Given the description of an element on the screen output the (x, y) to click on. 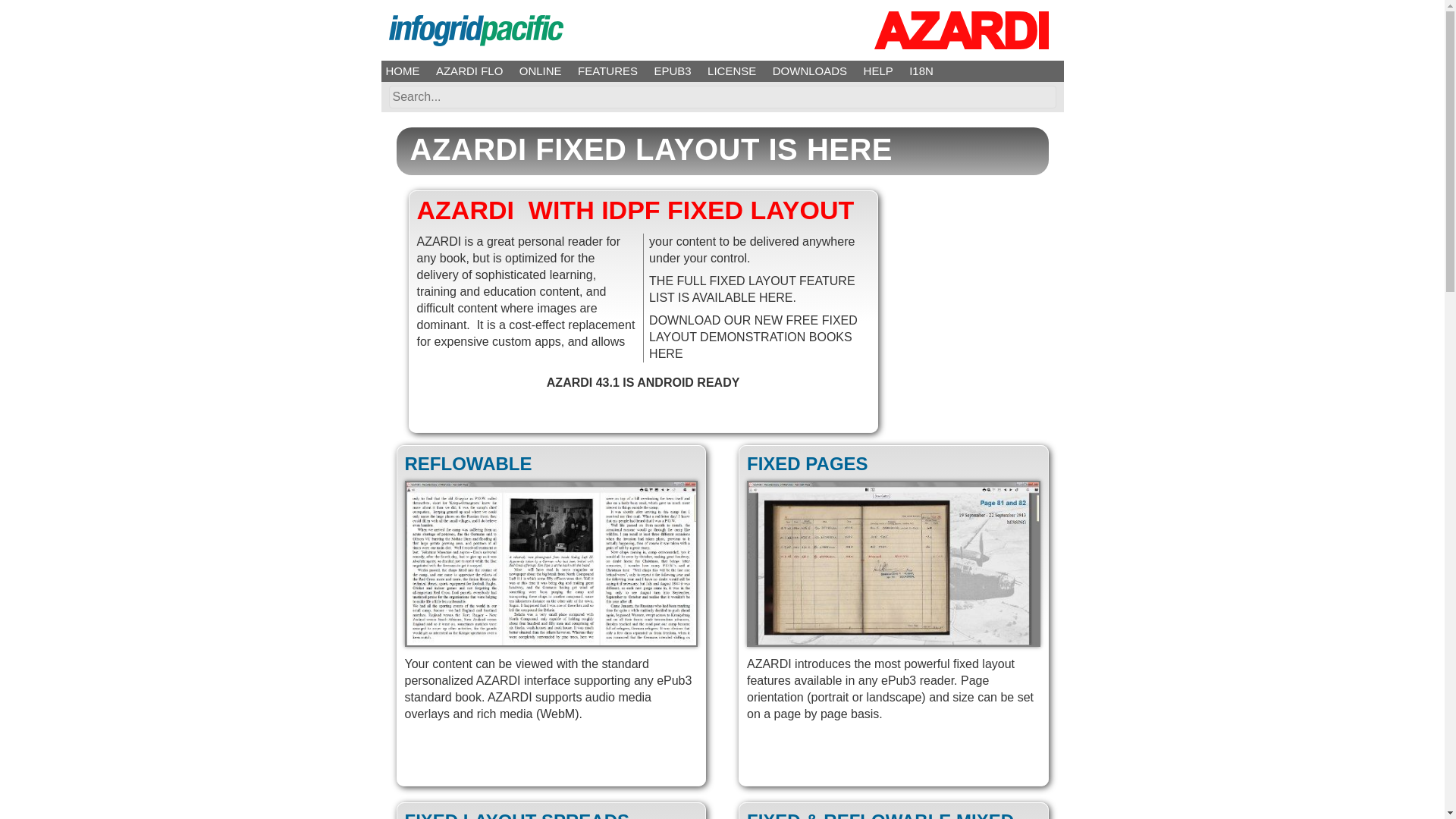
HELP (878, 70)
HOME (402, 70)
DOWNLOADS (810, 70)
AZARDI (960, 30)
I18N (920, 70)
FEATURES (607, 70)
Search (1040, 96)
ONLINE (540, 70)
LICENSE (731, 70)
EPUB3 (671, 70)
AZARDI FLO (468, 70)
Infogrid Pacific- The Science of information (475, 30)
